Given the description of an element on the screen output the (x, y) to click on. 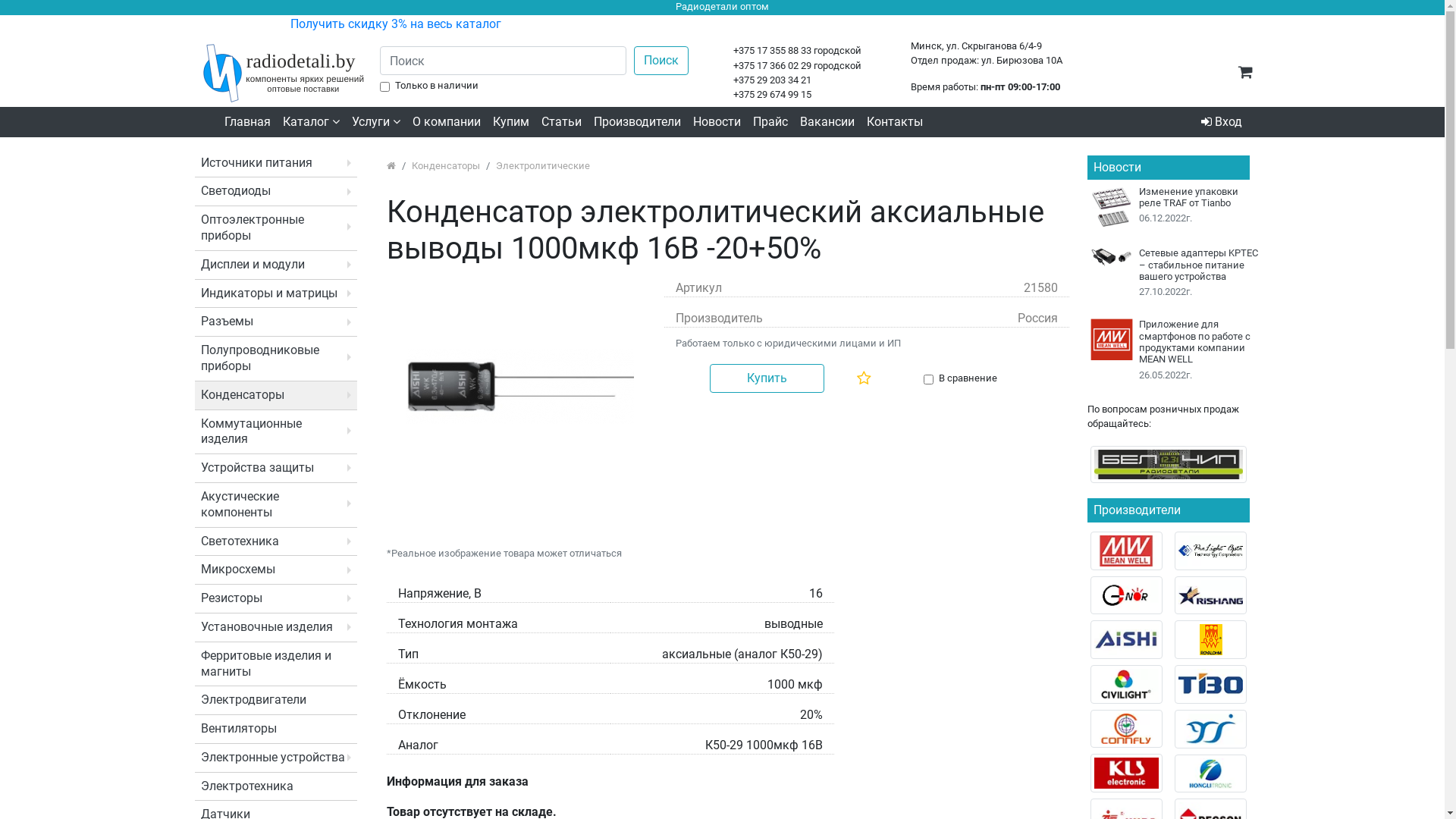
+375 17 355 88 33 Element type: text (772, 50)
+375 29 674 99 15 Element type: text (772, 94)
on Element type: text (928, 379)
+375 29 203 34 21 Element type: text (772, 79)
+375 17 366 02 29 Element type: text (772, 65)
